Given the description of an element on the screen output the (x, y) to click on. 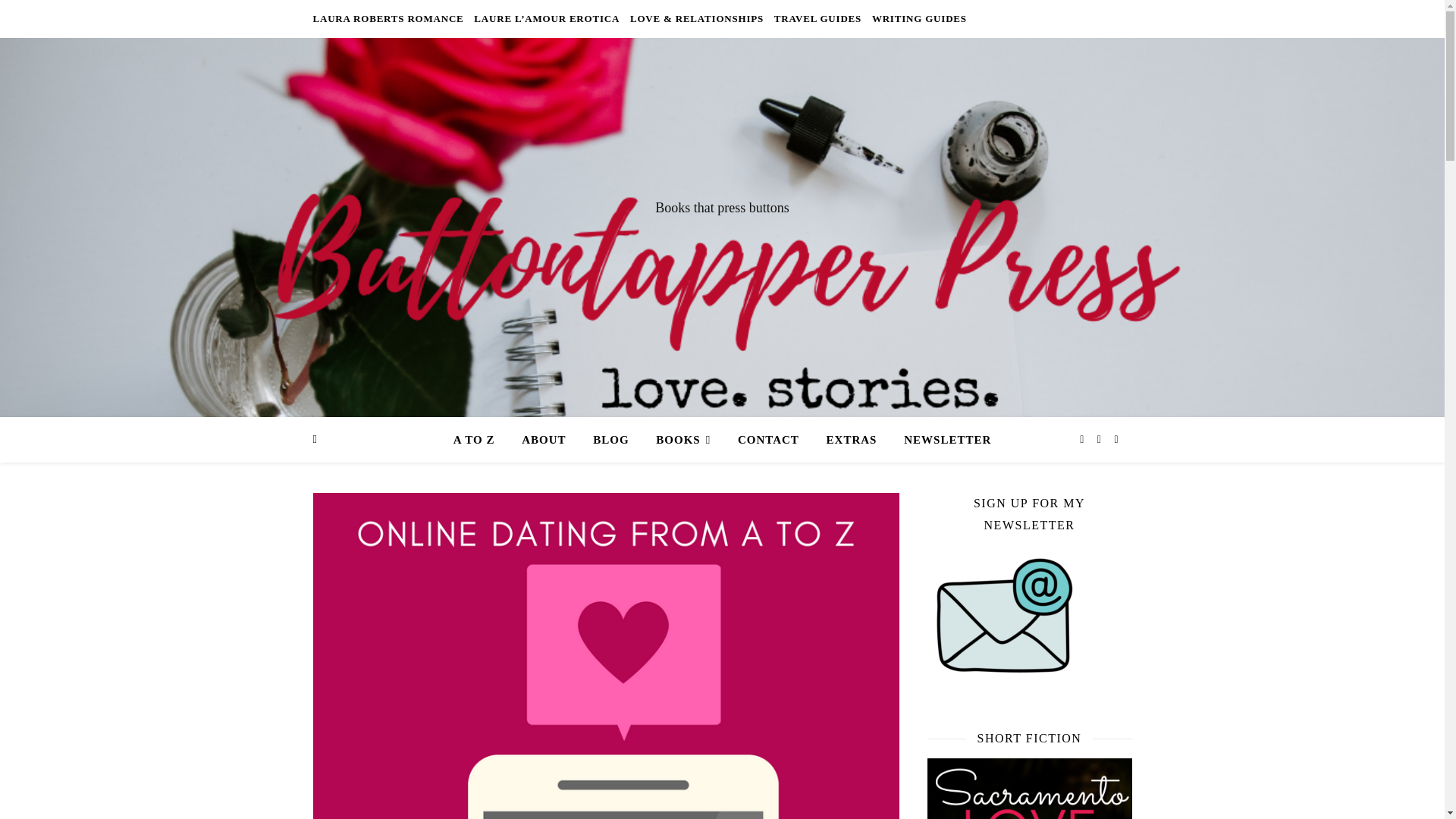
WRITING GUIDES (916, 18)
ABOUT (543, 439)
EXTRAS (851, 439)
TRAVEL GUIDES (817, 18)
A TO Z (479, 439)
BOOKS (682, 439)
CONTACT (767, 439)
NEWSLETTER (941, 439)
BLOG (610, 439)
LAURA ROBERTS ROMANCE (390, 18)
